Given the description of an element on the screen output the (x, y) to click on. 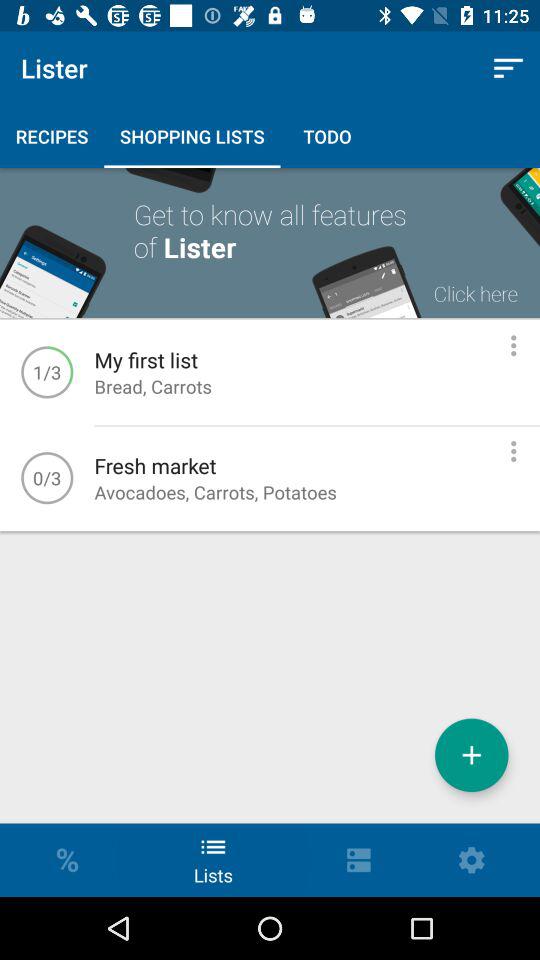
create new list (471, 755)
